Given the description of an element on the screen output the (x, y) to click on. 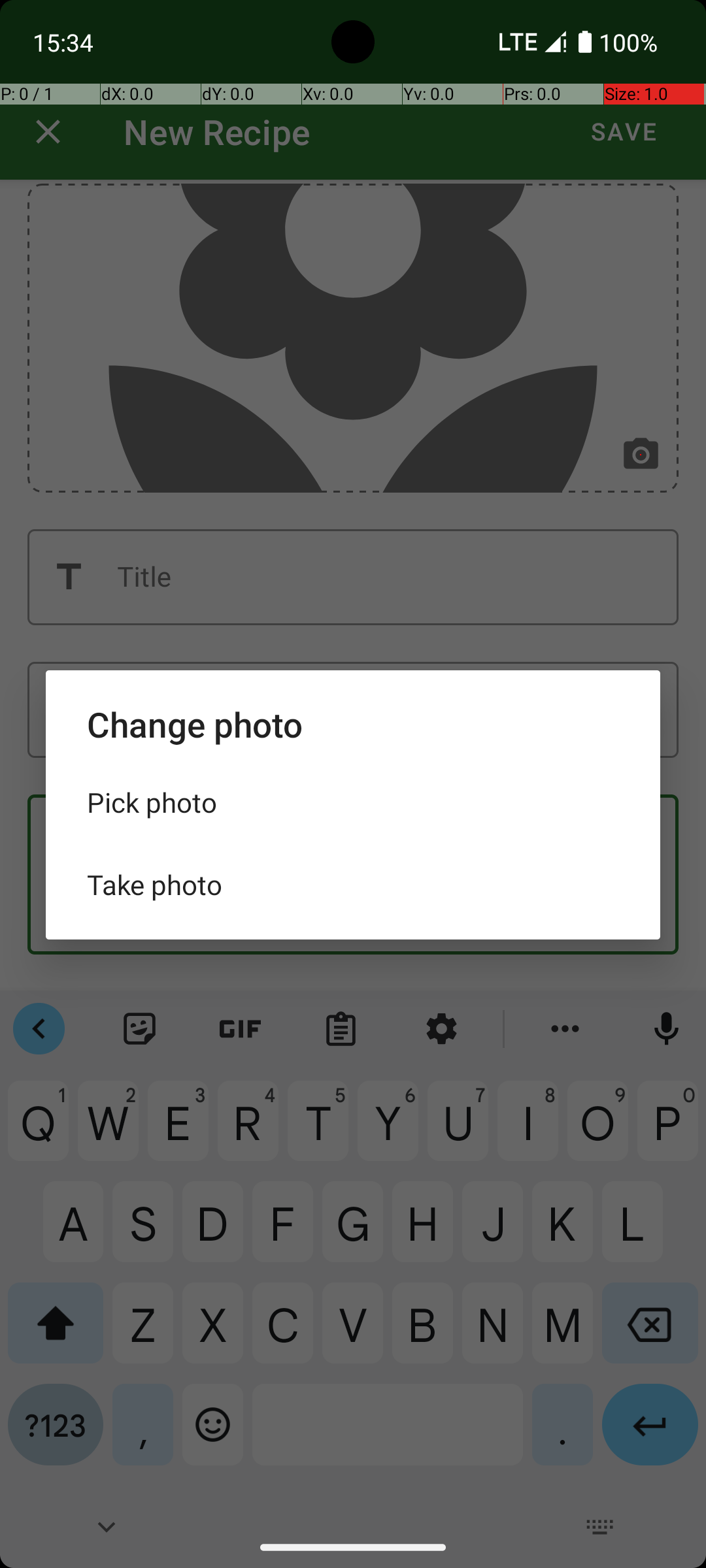
Pick photo Element type: android.widget.TextView (352, 802)
